Given the description of an element on the screen output the (x, y) to click on. 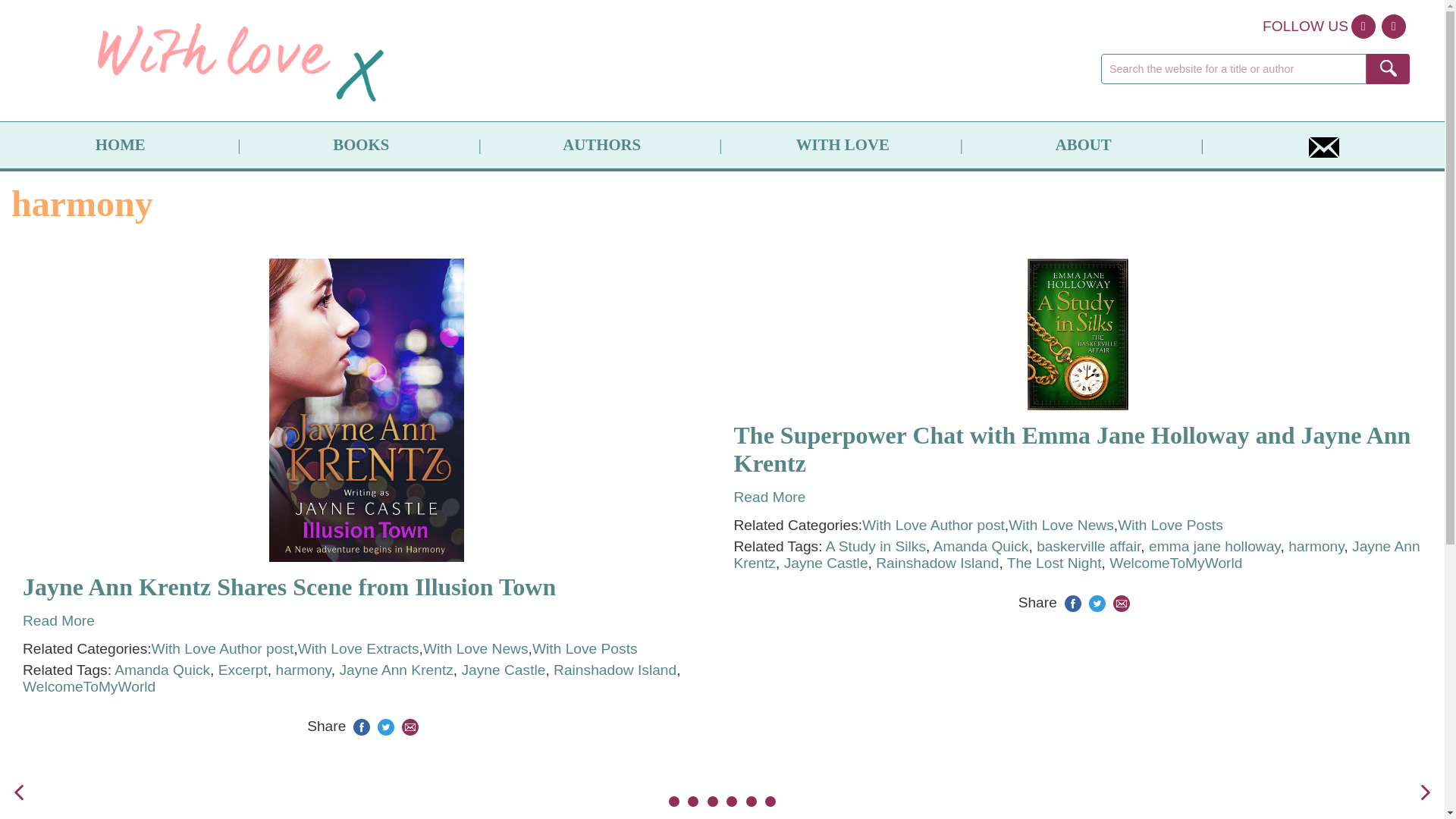
WITH LOVE (841, 145)
Rainshadow Island (615, 669)
Read More (58, 620)
Amanda Quick (162, 669)
ABOUT (1083, 145)
AUTHORS (601, 145)
Jayne Castle (502, 669)
Left Arrow Left arrow icon (17, 792)
BOOKS (359, 145)
Right Arrow Right arrow icon (1425, 792)
NEWSLETTER (1323, 145)
Excerpt (242, 669)
With Love News (475, 648)
With Love Author post (222, 648)
With Love Posts (584, 648)
